Given the description of an element on the screen output the (x, y) to click on. 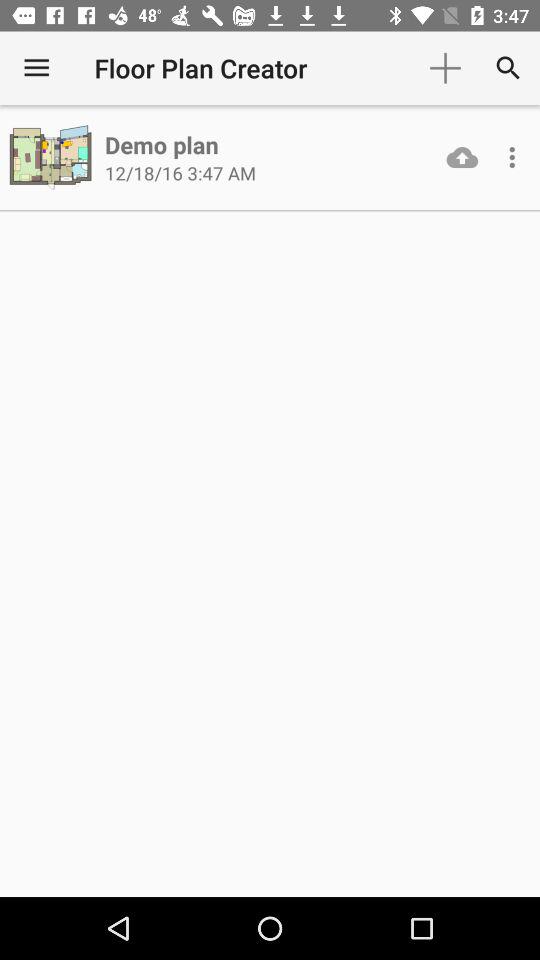
select item to the left of demo plan icon (52, 157)
